Given the description of an element on the screen output the (x, y) to click on. 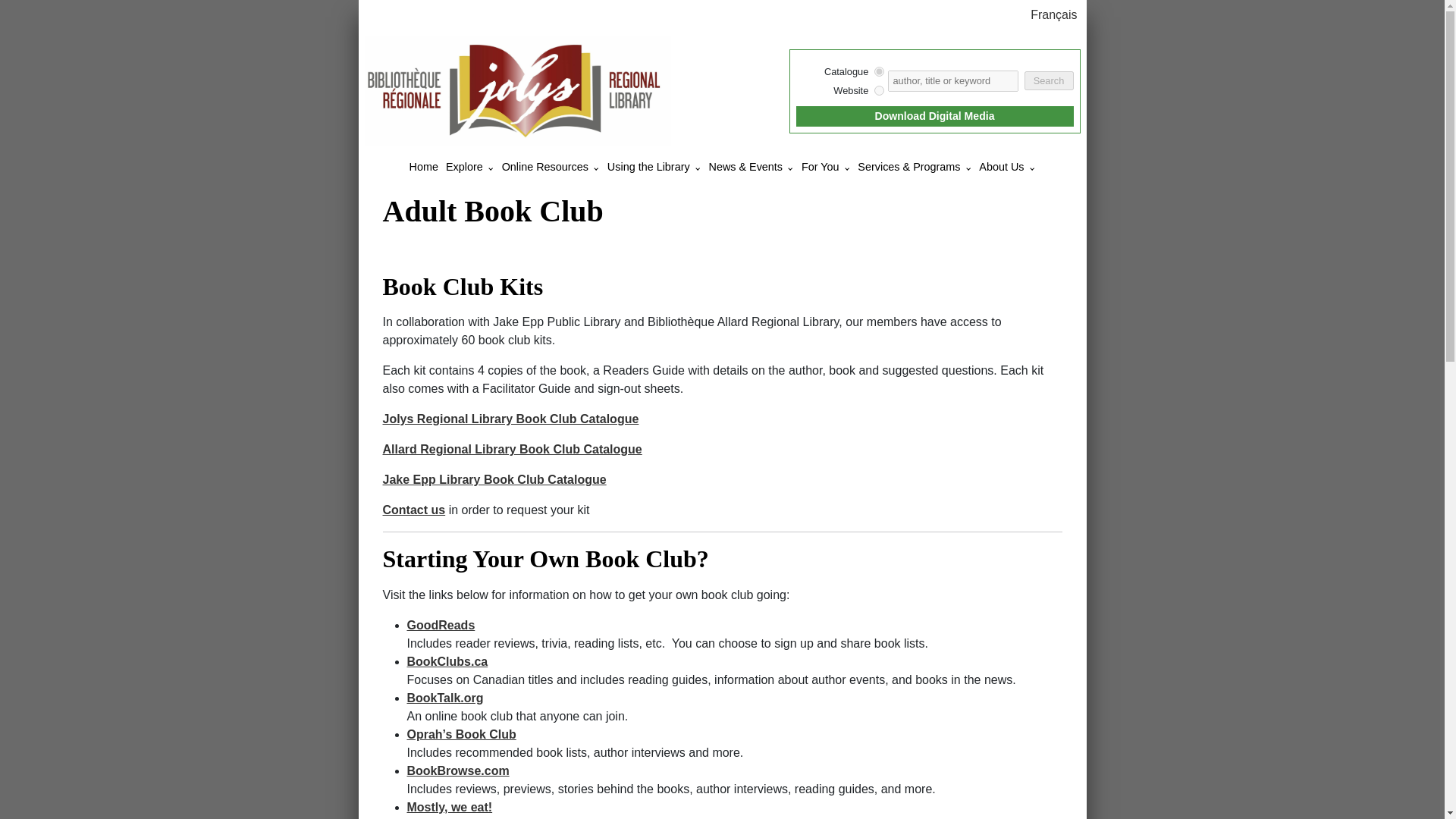
website (879, 90)
Oprah's Book Club (460, 734)
Mostly, we eat! (449, 807)
catalogue (879, 71)
catalogue (879, 71)
GoodReads (440, 625)
Download Digital Media (934, 116)
Home (424, 166)
Search (1048, 80)
BookTalk.org (444, 697)
BookBrowse.com (457, 770)
website (879, 90)
Search (1048, 80)
Online Resources (544, 166)
Search (1048, 80)
